Given the description of an element on the screen output the (x, y) to click on. 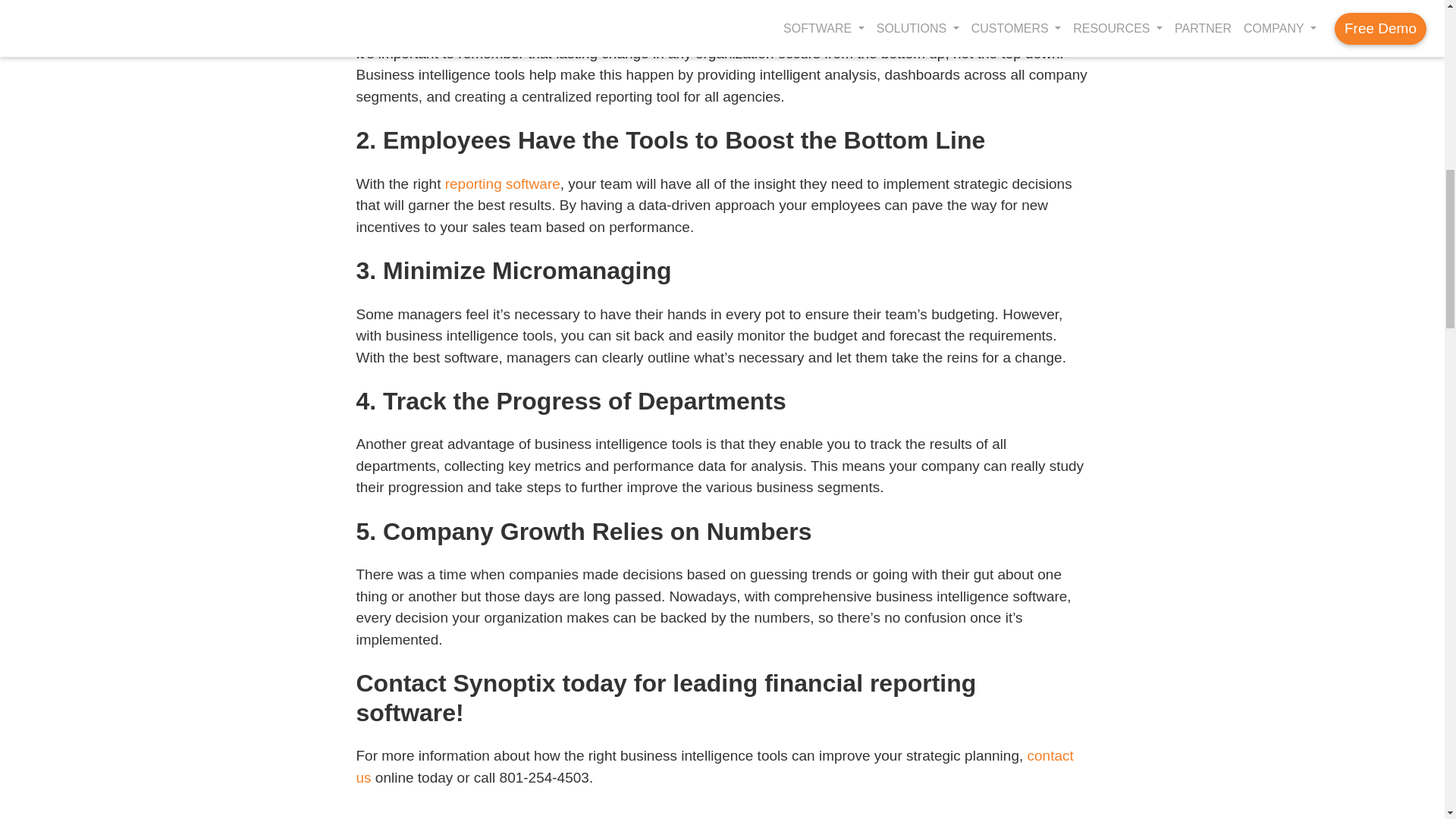
contact us (715, 766)
reporting software (502, 183)
